Given the description of an element on the screen output the (x, y) to click on. 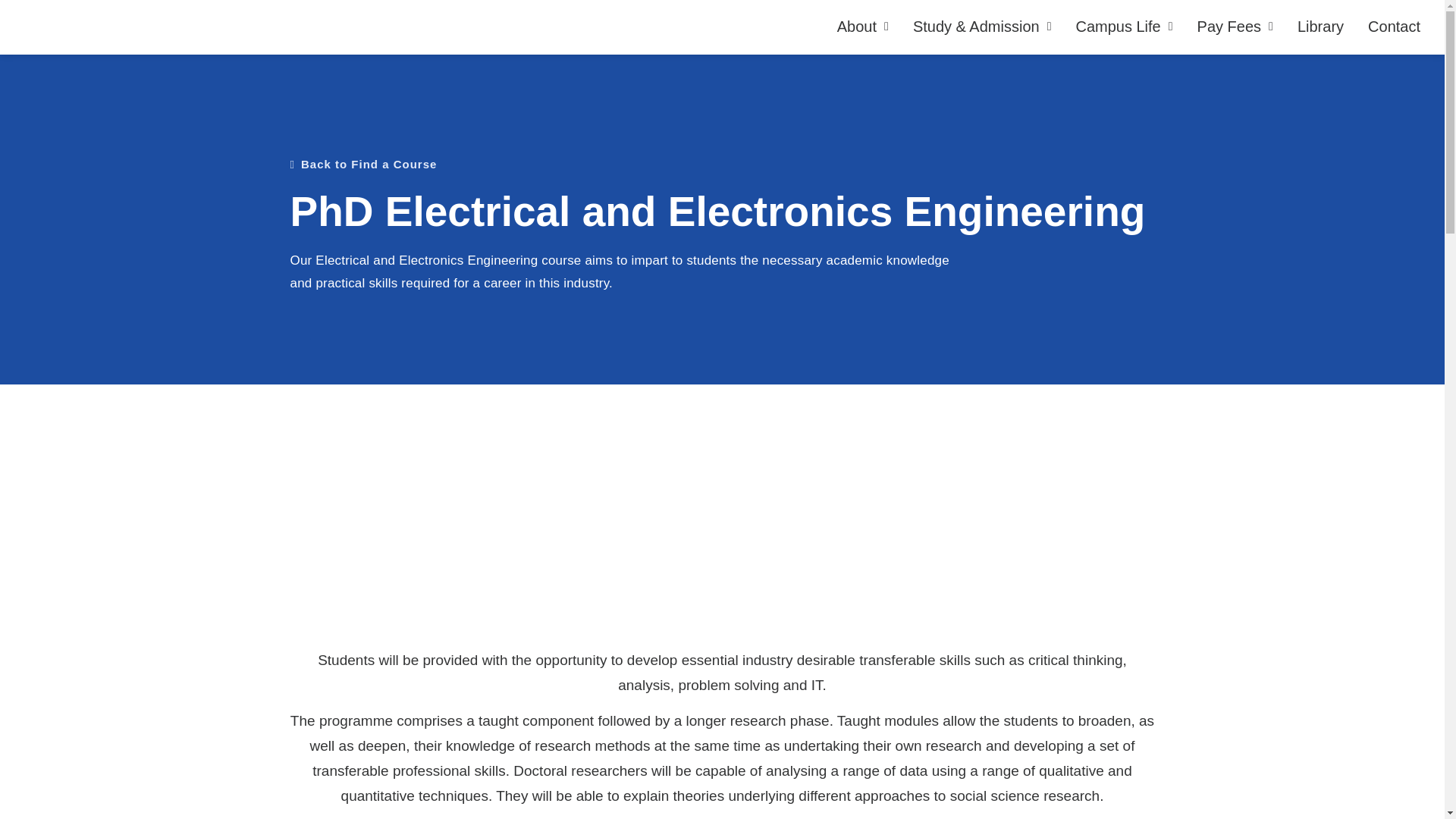
About (862, 26)
